Given the description of an element on the screen output the (x, y) to click on. 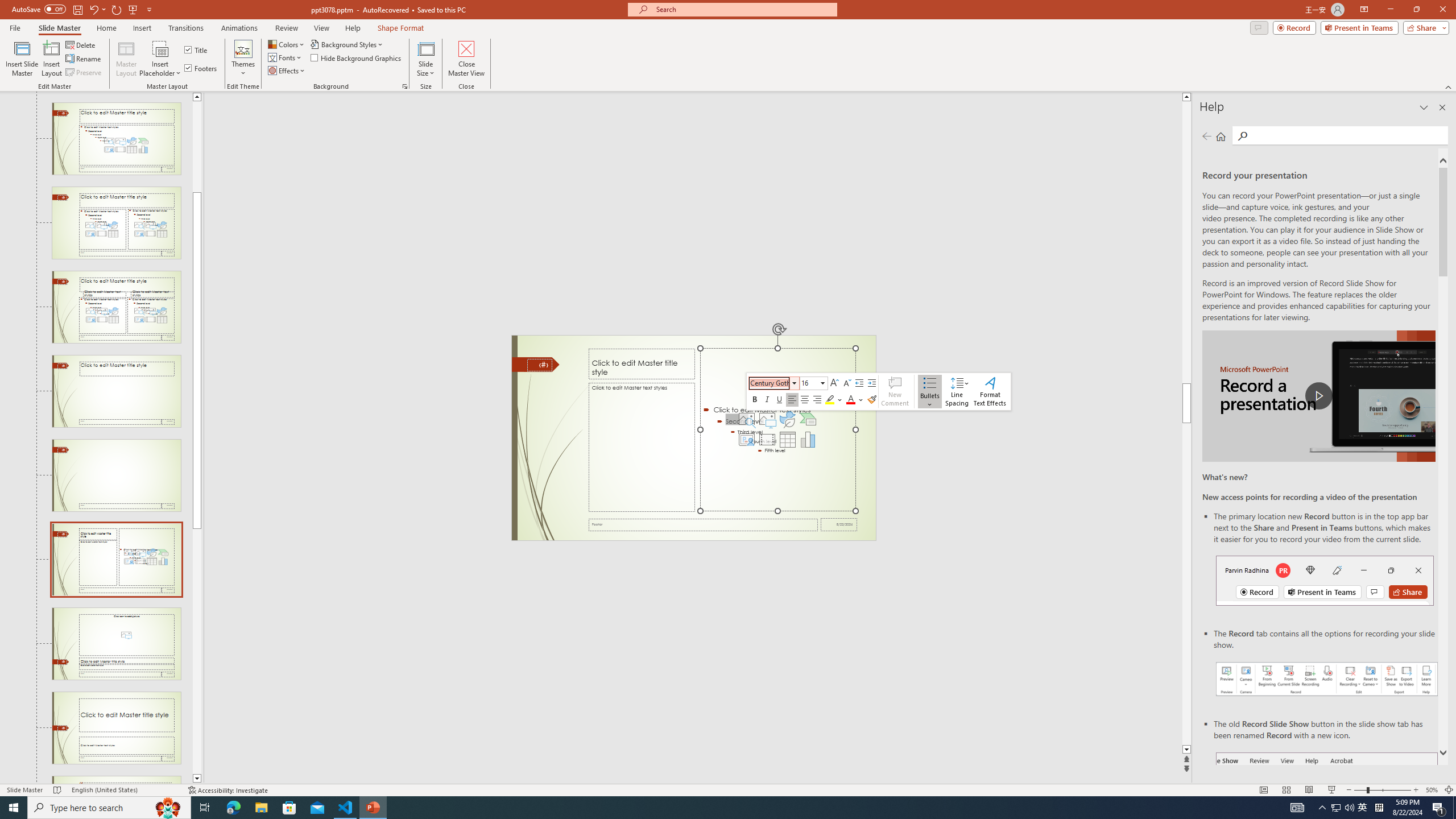
Footer (703, 524)
Fonts (285, 56)
Colors (287, 44)
Slide Two Content Layout: used by no slides (116, 222)
Slide Title and Caption Layout: used by no slides (116, 728)
